Given the description of an element on the screen output the (x, y) to click on. 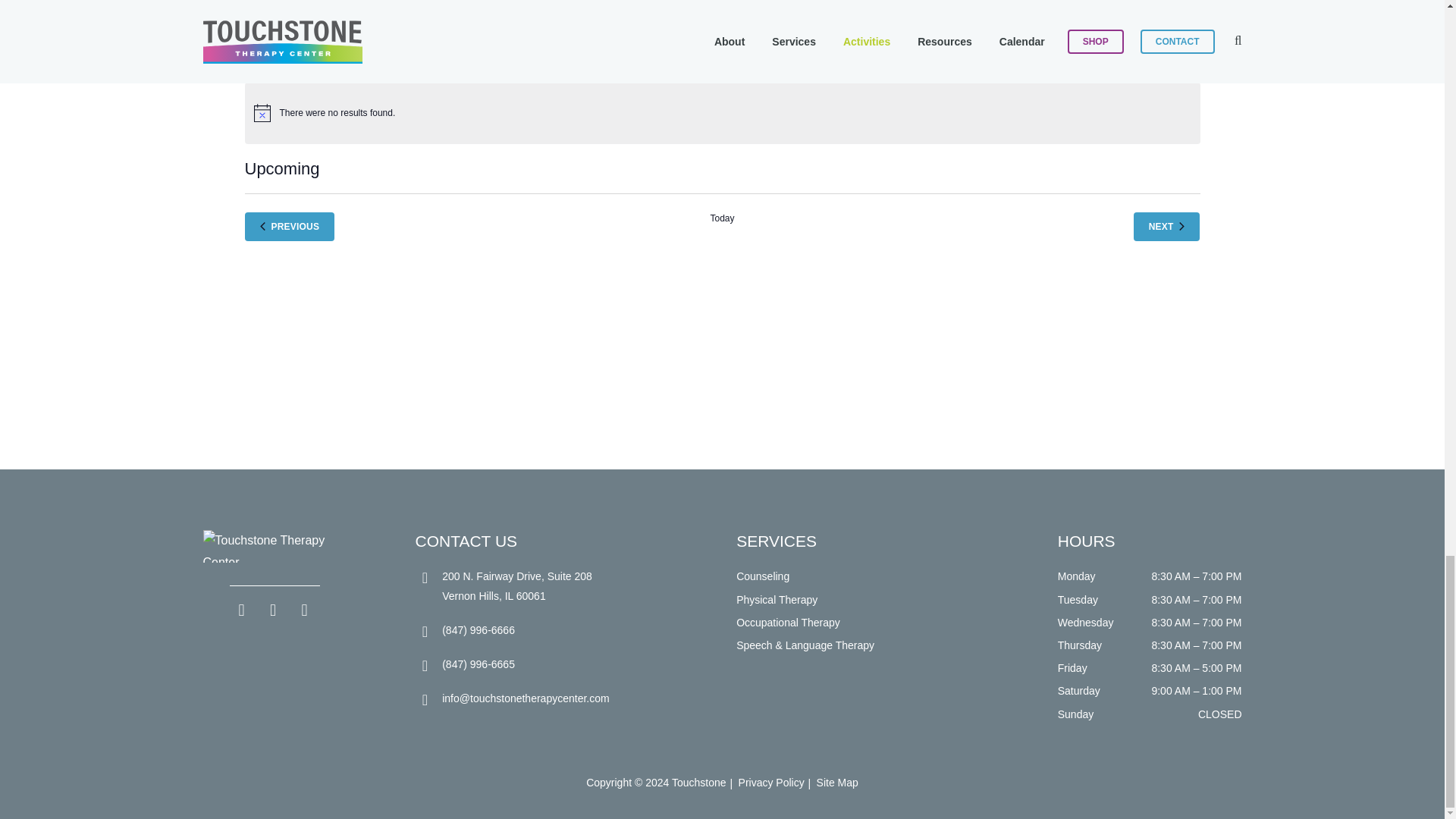
Previous Events (289, 226)
Click to toggle datepicker (281, 168)
Click to select today's date (721, 226)
Next Events (1166, 226)
